Given the description of an element on the screen output the (x, y) to click on. 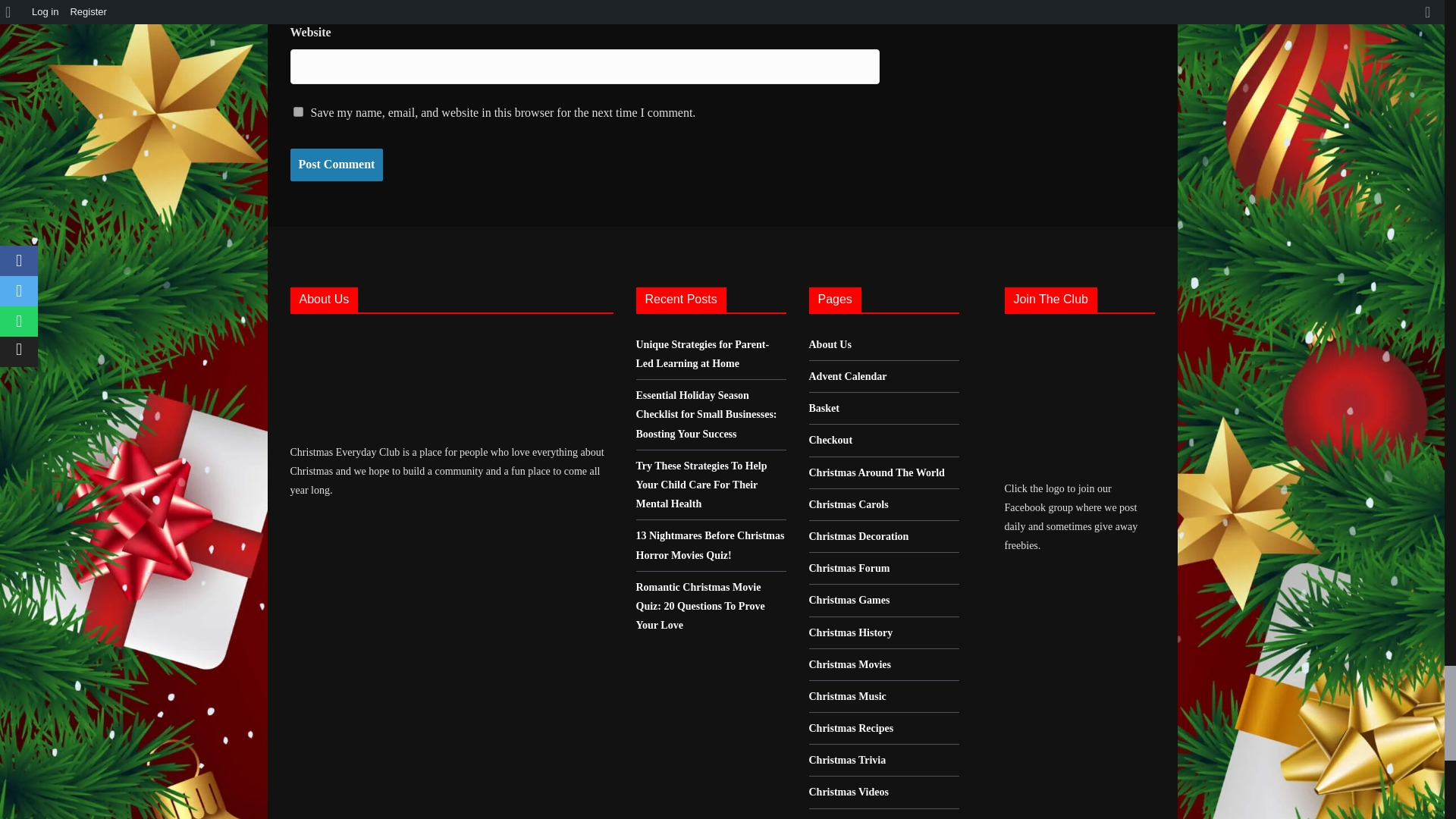
Post Comment (335, 164)
yes (297, 112)
